Given the description of an element on the screen output the (x, y) to click on. 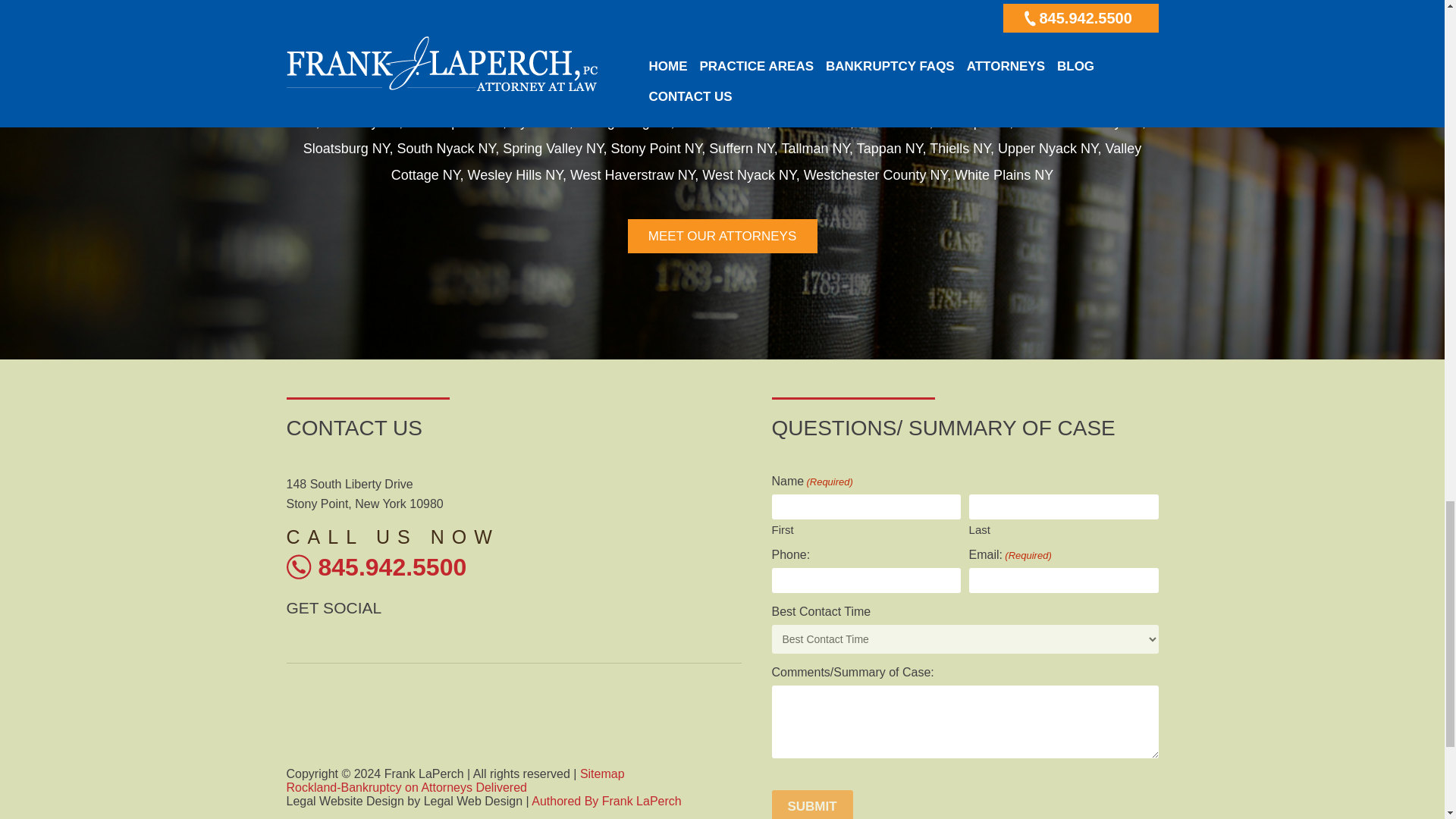
MEET OUR ATTORNEYS (721, 324)
Sitemap (601, 773)
Submit (812, 804)
Rockland-Bankruptcy on Attorneys Delivered (406, 787)
Submit (1039, 804)
Authored By Frank LaPerch (606, 800)
